Given the description of an element on the screen output the (x, y) to click on. 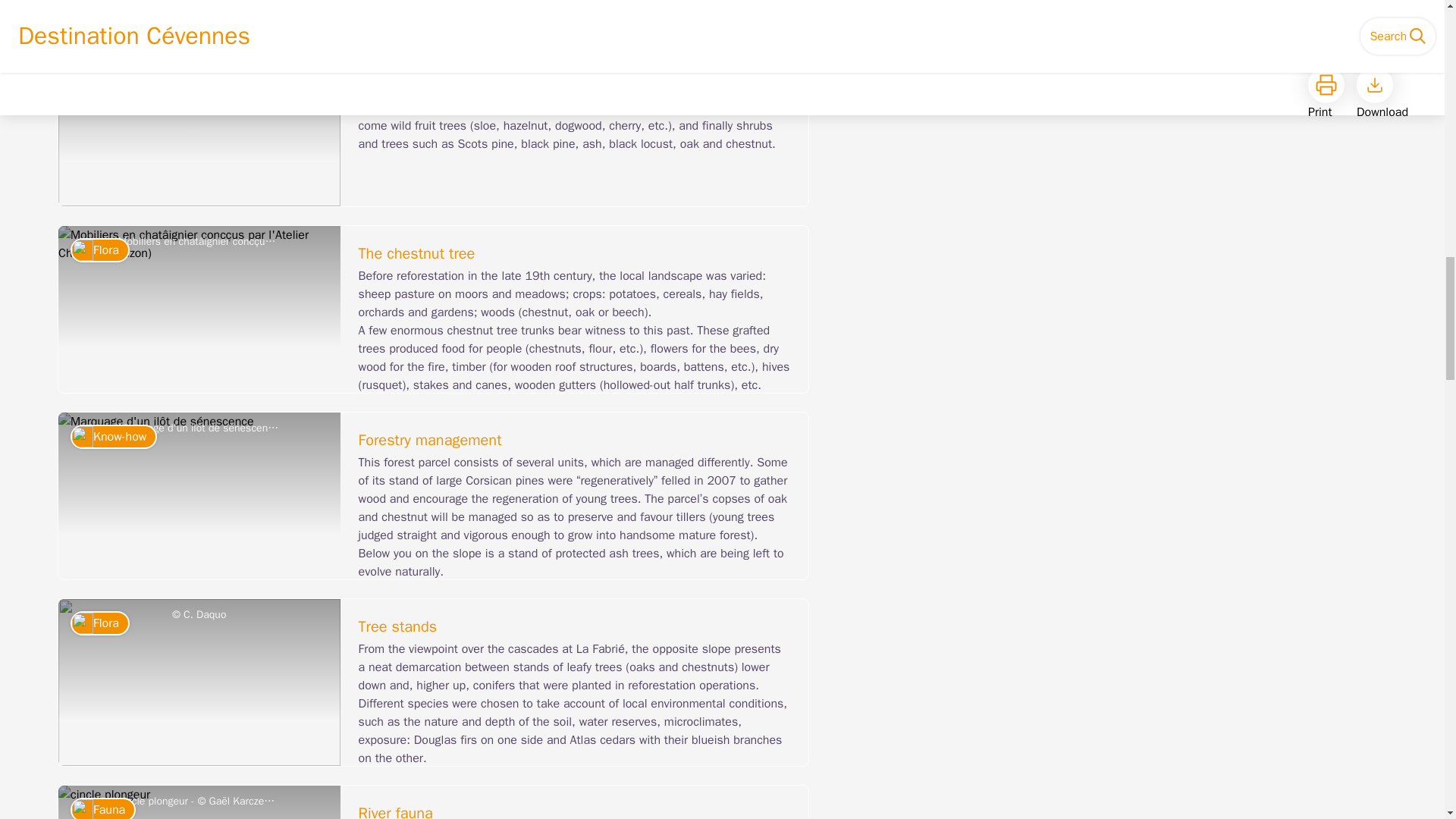
View picture in full screen (199, 495)
View picture in full screen (199, 802)
View picture in full screen (199, 681)
View picture in full screen (199, 9)
View picture in full screen (199, 309)
View picture in full screen (199, 122)
